Given the description of an element on the screen output the (x, y) to click on. 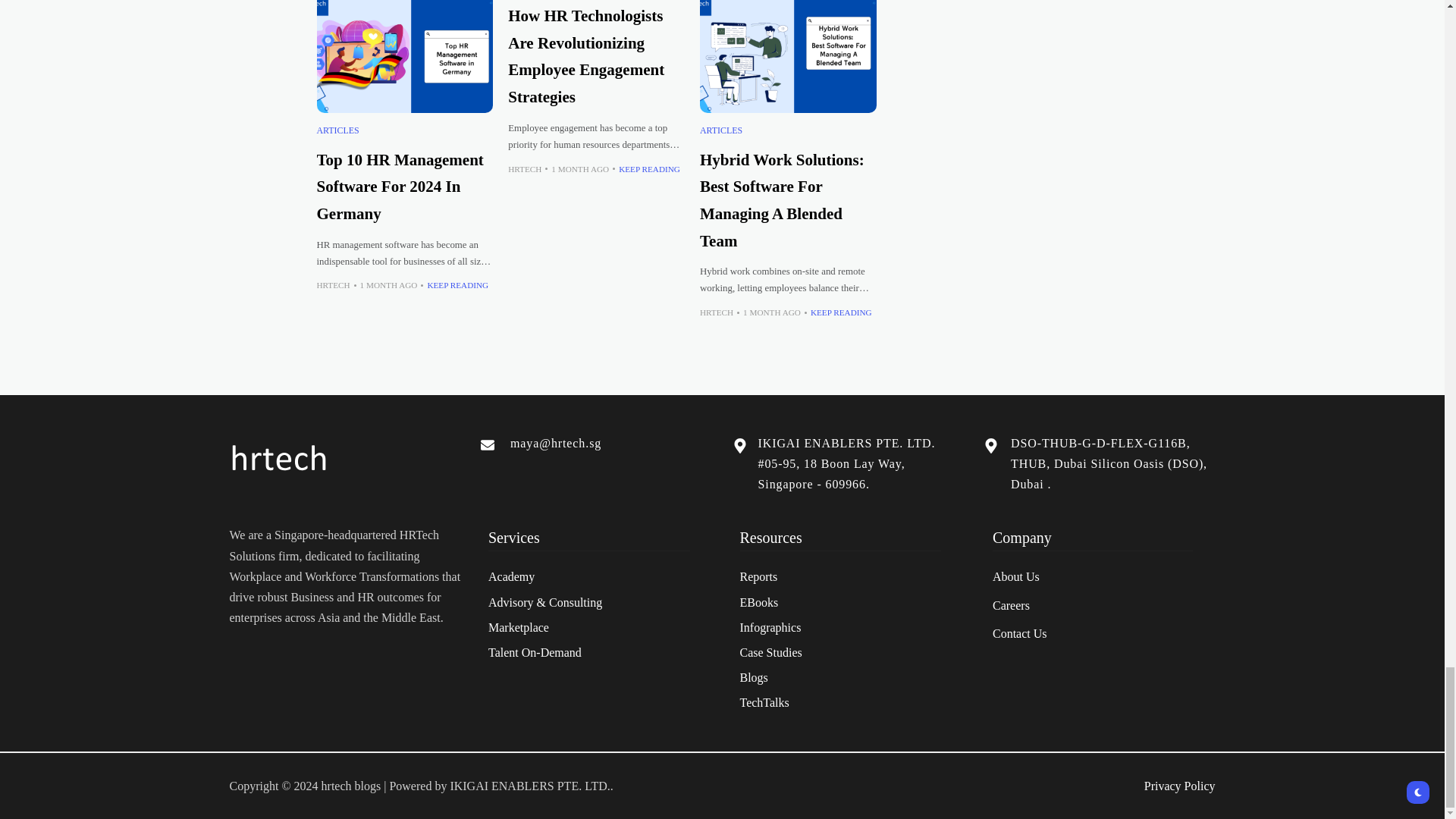
Top 10 HR Management Software For 2024 In Germany (405, 56)
Posts by hrtech (333, 285)
